Given the description of an element on the screen output the (x, y) to click on. 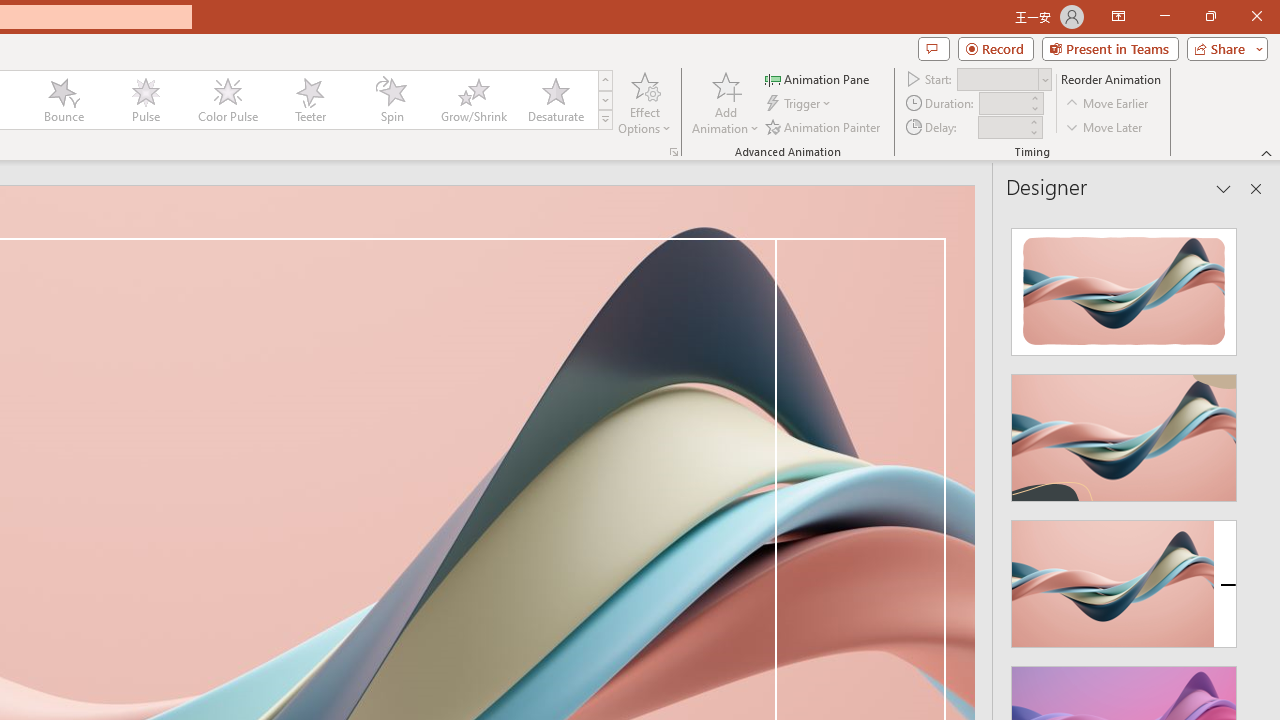
Color Pulse (227, 100)
Animation Pane (818, 78)
Animation Delay (1002, 127)
Add Animation (725, 102)
Move Later (1105, 126)
Desaturate (555, 100)
